Given the description of an element on the screen output the (x, y) to click on. 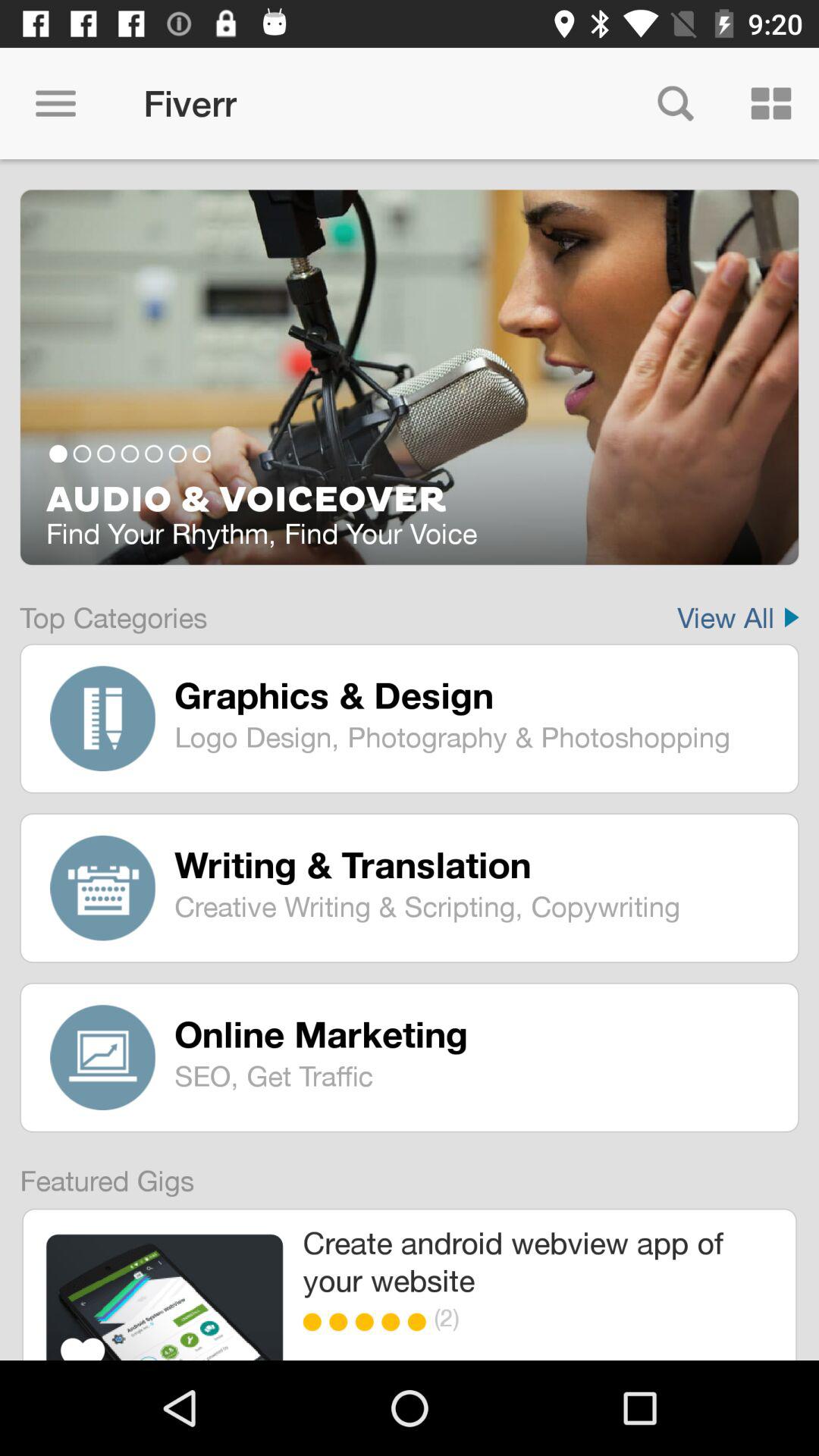
turn on icon above logo design photography item (475, 694)
